Given the description of an element on the screen output the (x, y) to click on. 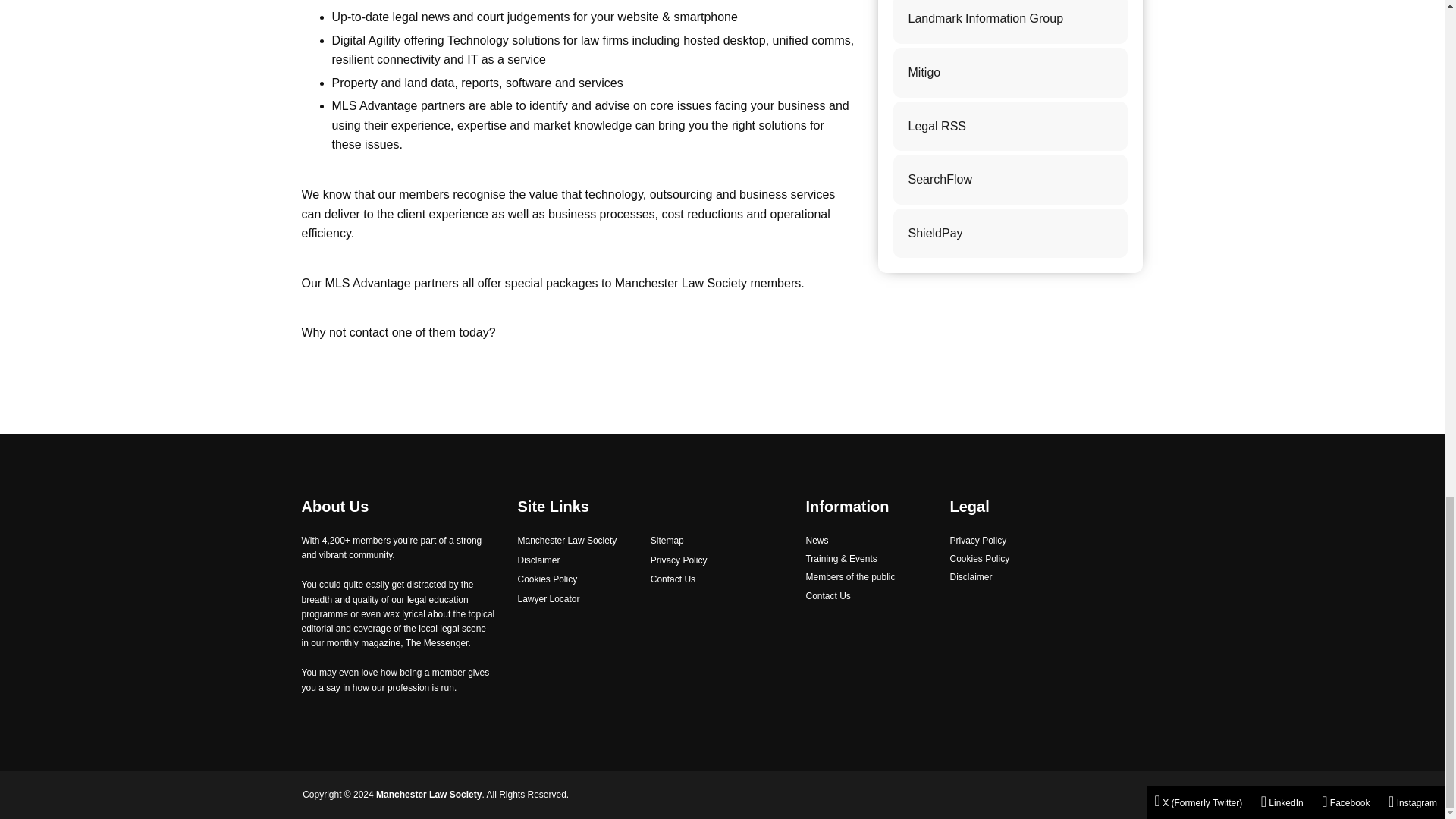
Cookies Policy (979, 559)
SearchFlow (1010, 179)
Cookies Policy (546, 579)
Legal RSS (1010, 126)
Contact Us (827, 595)
Lawyer Locator (547, 599)
Mitigo (1010, 72)
ShieldPay (1010, 233)
Sitemap (667, 541)
Privacy Policy (678, 560)
